Given the description of an element on the screen output the (x, y) to click on. 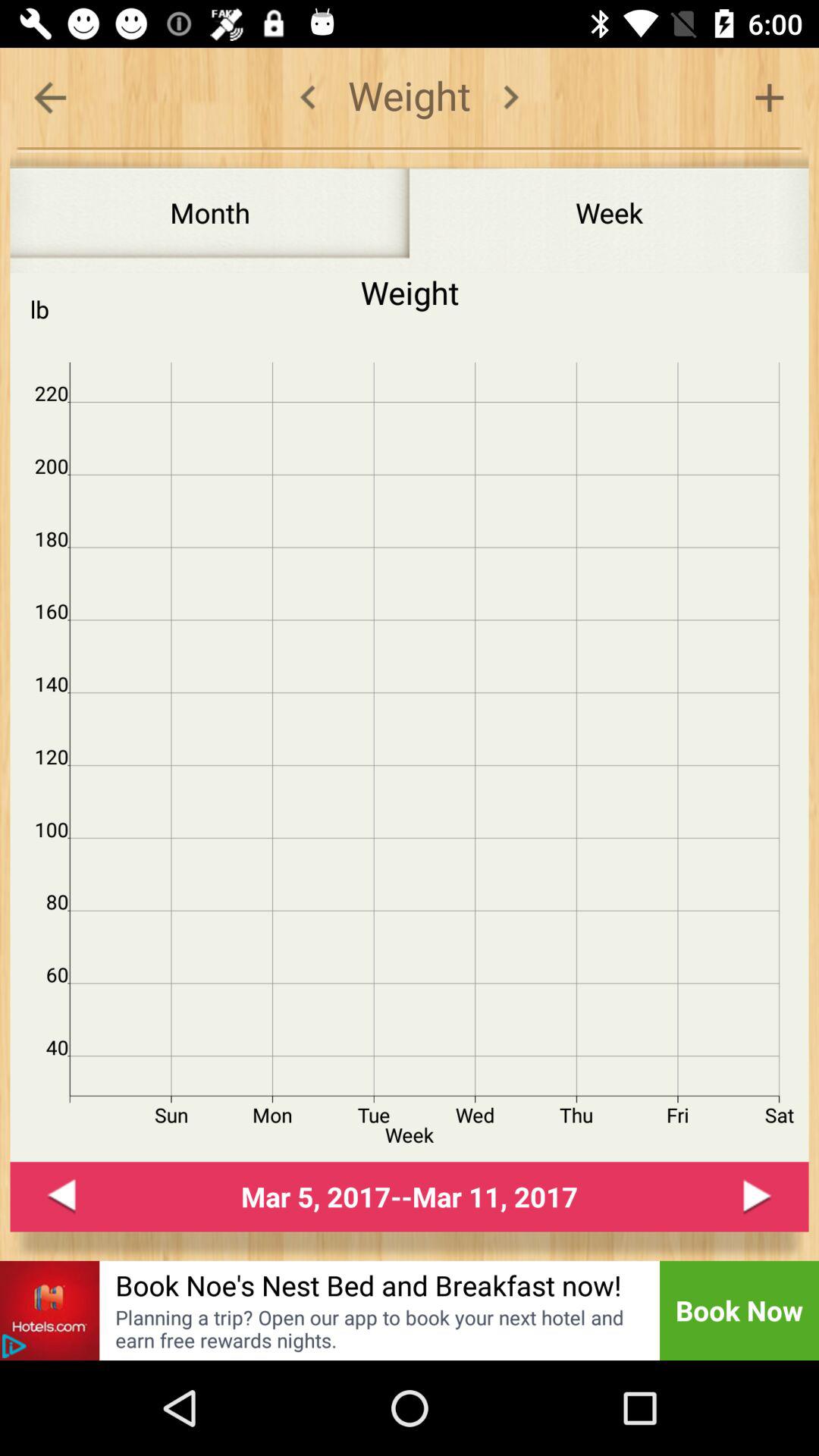
go to advert (49, 1310)
